Given the description of an element on the screen output the (x, y) to click on. 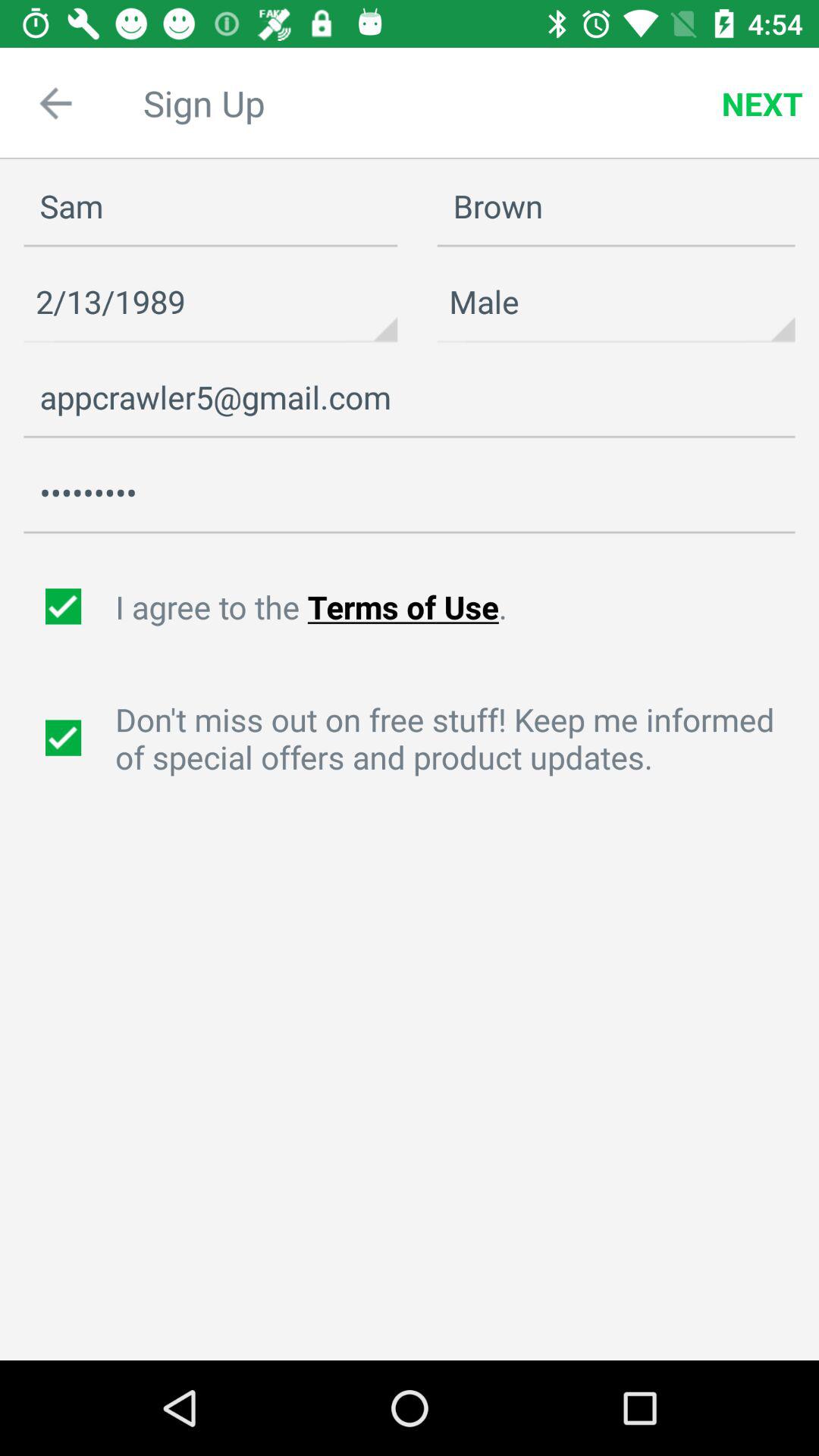
press the sam (210, 206)
